Given the description of an element on the screen output the (x, y) to click on. 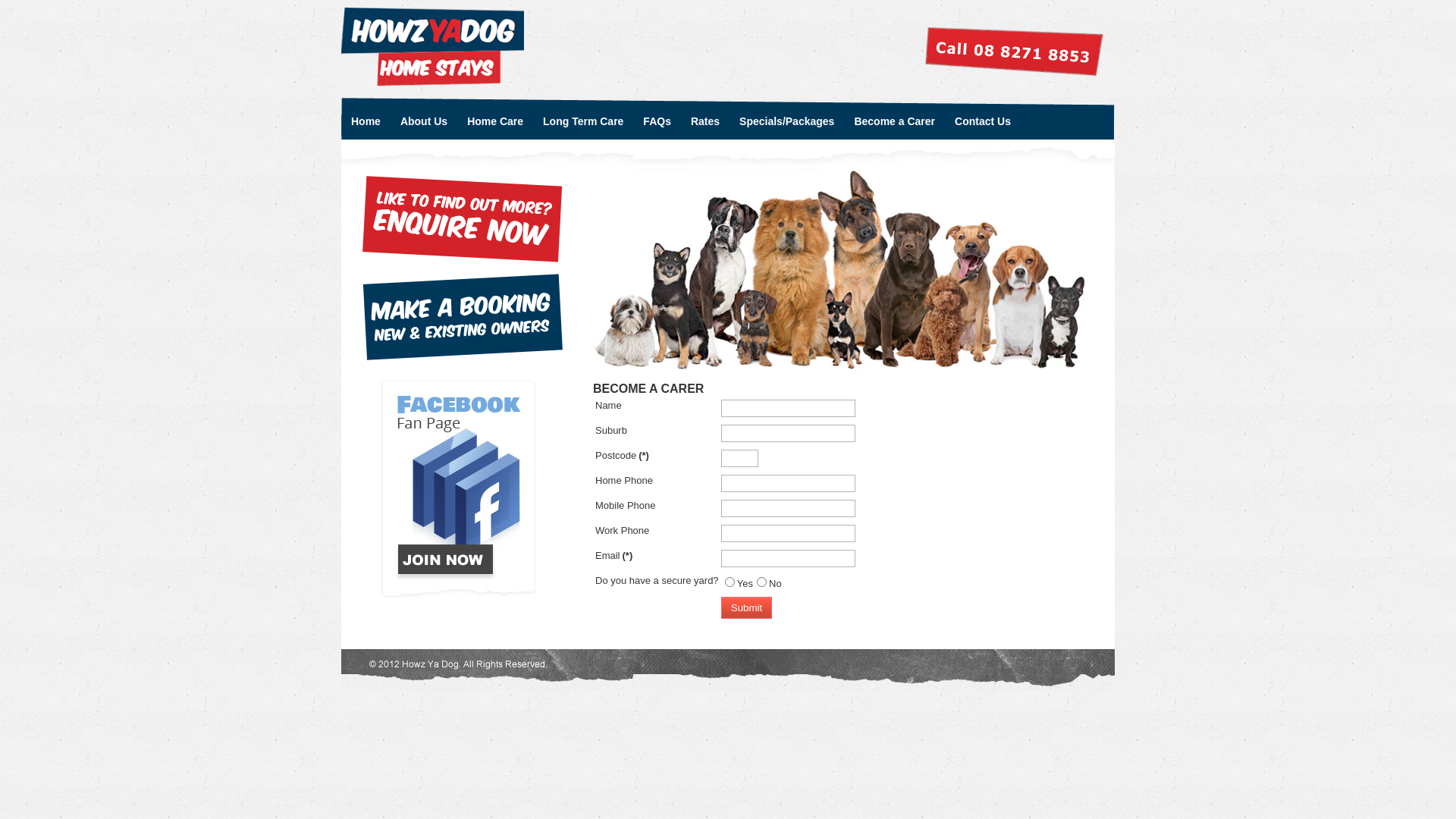
Become a Carer Element type: text (894, 117)
Submit Element type: text (746, 607)
Join Now Element type: hover (462, 489)
Home Element type: text (365, 117)
About Us Element type: text (423, 117)
Contact Us Element type: text (982, 117)
Home Care Element type: text (495, 117)
Join Now Element type: hover (462, 603)
Make a Booking Element type: hover (462, 316)
Call - 08 8271 8853 Element type: hover (1014, 51)
HOWZYADOG - HOME STAY Element type: hover (432, 46)
Long Term Care Element type: text (582, 117)
FAQs Element type: text (656, 117)
Enquire Now Element type: hover (462, 218)
Specials/Packages Element type: text (786, 117)
Rates Element type: text (704, 117)
